Given the description of an element on the screen output the (x, y) to click on. 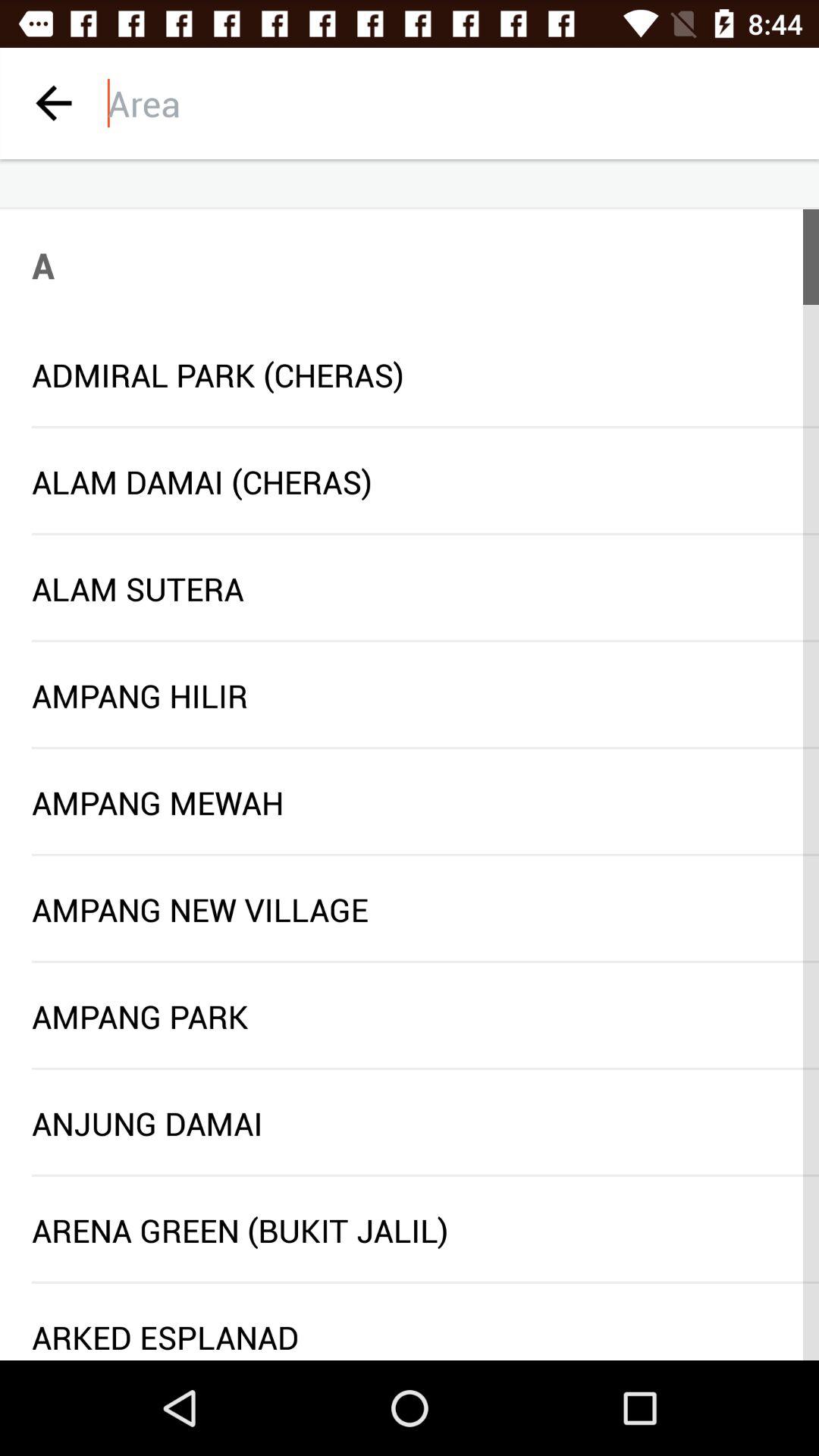
swipe to the arena green bukit icon (409, 1229)
